Given the description of an element on the screen output the (x, y) to click on. 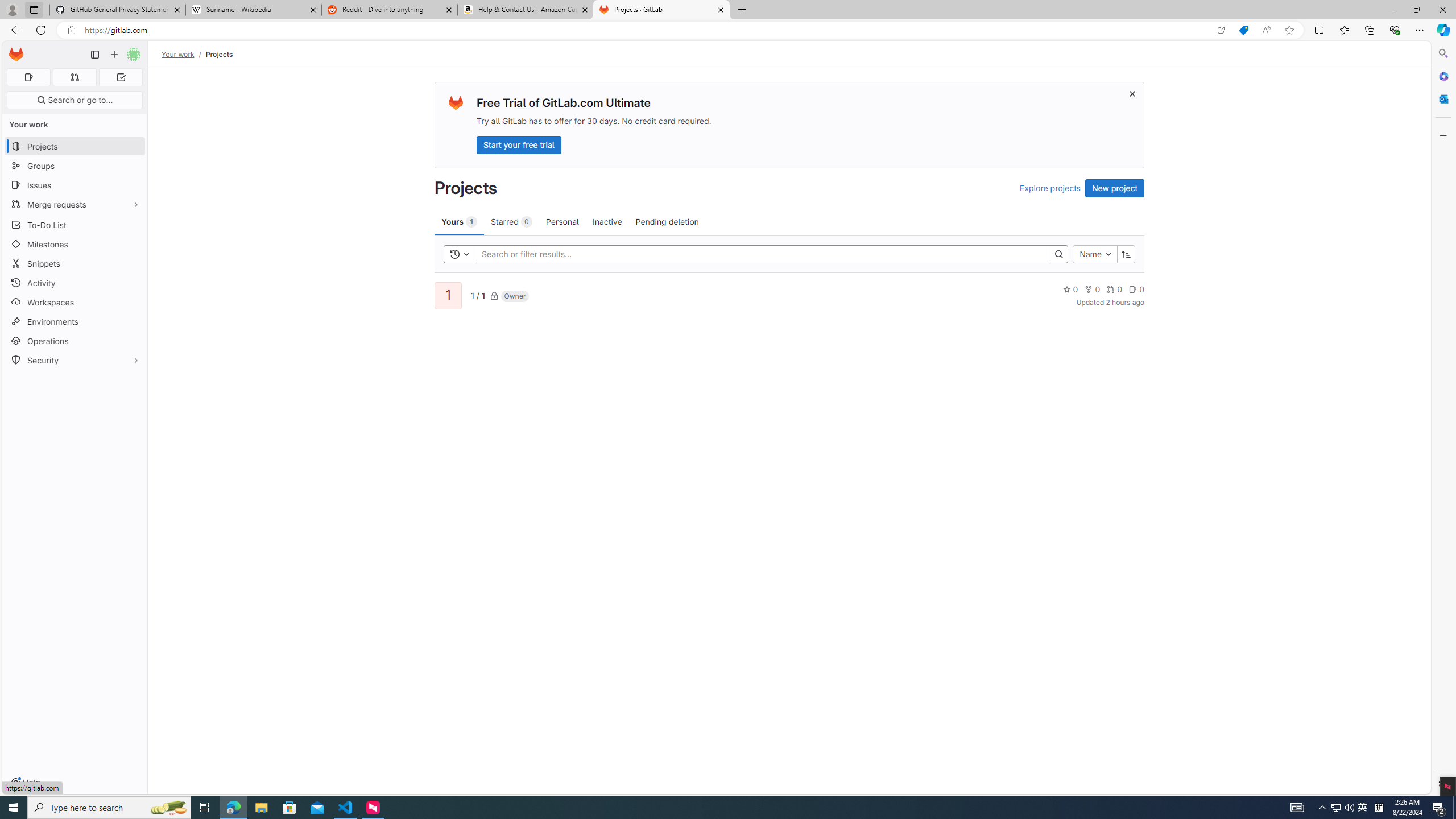
Merge requests 0 (74, 76)
Issues (74, 185)
Inactive (606, 221)
GitHub General Privacy Statement - GitHub Docs (117, 9)
Groups (74, 165)
Snippets (74, 262)
Class: s14 gl-mr-2 (1132, 289)
Open in app (1220, 29)
Groups (74, 165)
